Given the description of an element on the screen output the (x, y) to click on. 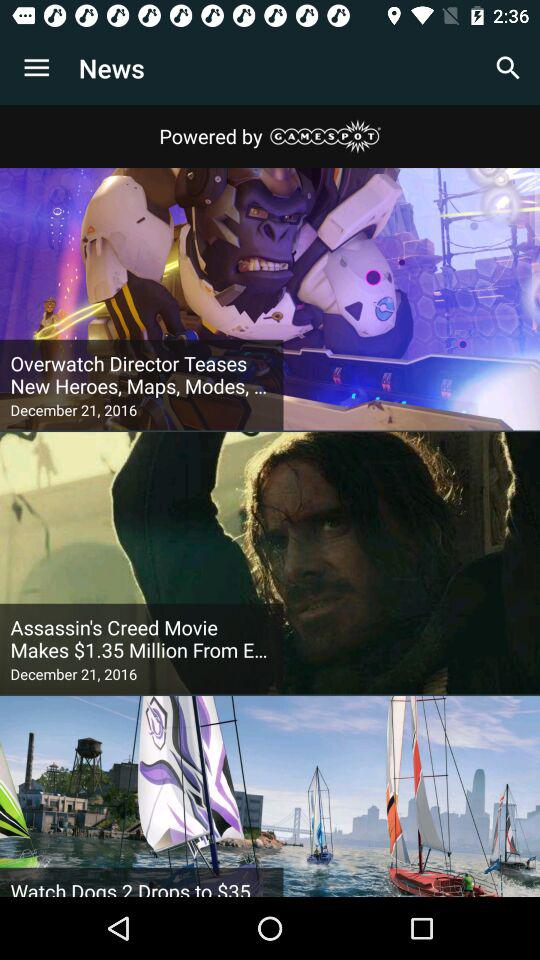
turn on the item above december 21, 2016 icon (141, 375)
